Given the description of an element on the screen output the (x, y) to click on. 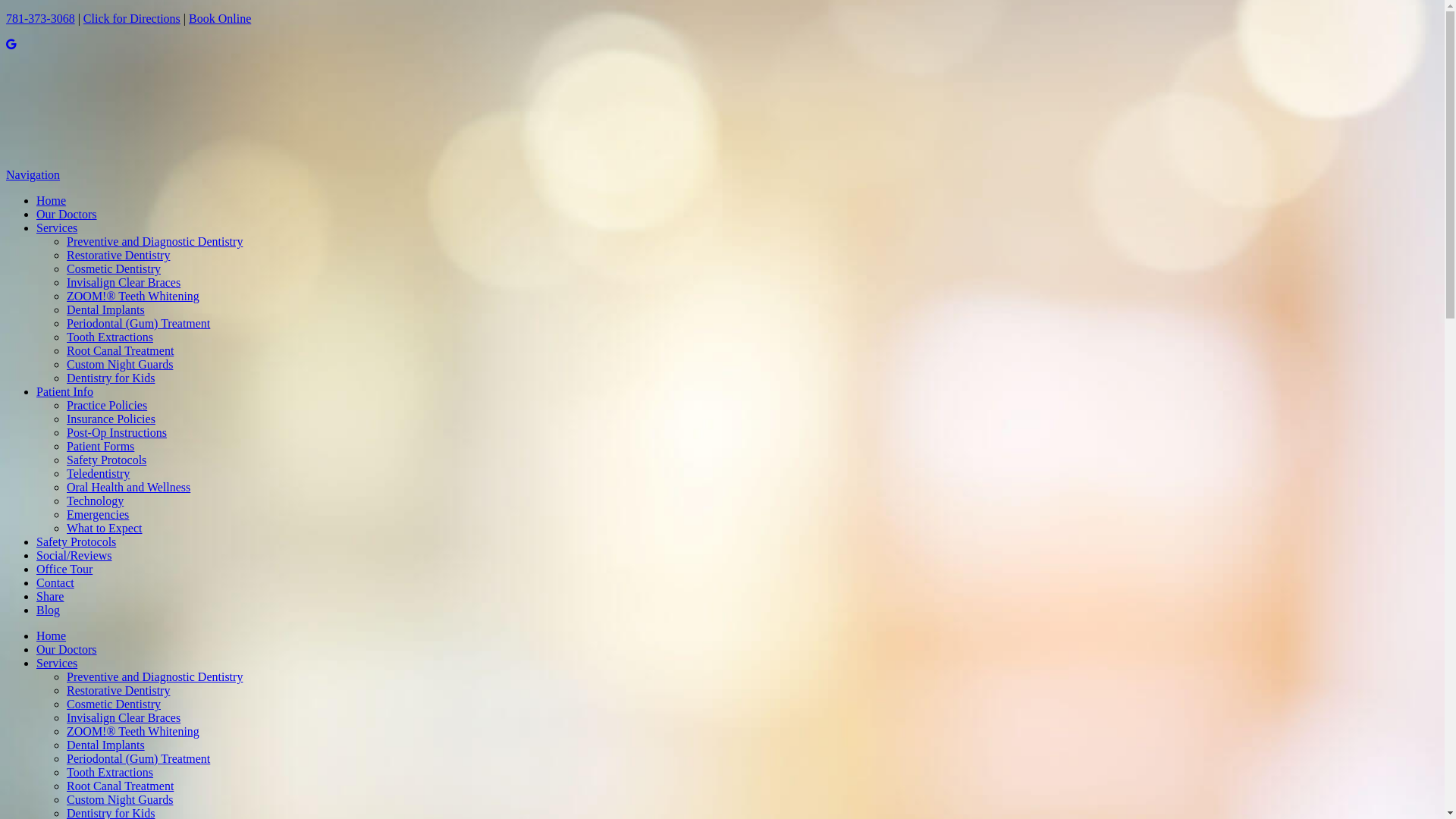
Technology Element type: text (94, 500)
Invisalign Clear Braces Element type: text (123, 717)
Preventive and Diagnostic Dentistry Element type: text (154, 676)
Dentistry for Kids Element type: text (110, 377)
Preventive and Diagnostic Dentistry Element type: text (154, 241)
Contact Element type: text (55, 582)
Our Doctors Element type: text (66, 649)
Restorative Dentistry Element type: text (117, 690)
Cosmetic Dentistry Element type: text (113, 268)
Patient Forms Element type: text (100, 445)
What to Expect Element type: text (104, 527)
Tooth Extractions Element type: text (109, 771)
Services Element type: text (737, 663)
Safety Protocols Element type: text (106, 459)
Services Element type: text (56, 227)
Post-Op Instructions Element type: text (116, 432)
Book Online Element type: text (219, 18)
Periodontal (Gum) Treatment Element type: text (138, 322)
Insurance Policies Element type: text (110, 418)
Custom Night Guards Element type: text (119, 799)
Dental Implants Element type: text (105, 309)
Oral Health and Wellness Element type: text (128, 486)
Blog Element type: text (47, 609)
Our Doctors Element type: text (66, 213)
Periodontal (Gum) Treatment Element type: text (138, 758)
781-373-3068 Element type: text (40, 18)
Home Element type: text (50, 635)
Practice Policies Element type: text (106, 404)
Dental Implants Element type: text (105, 744)
Cosmetic Dentistry Element type: text (113, 703)
Custom Night Guards Element type: text (119, 363)
Share Element type: text (49, 595)
Restorative Dentistry Element type: text (117, 254)
Navigation Element type: text (32, 174)
Patient Info Element type: text (64, 391)
Emergencies Element type: text (97, 514)
Home Element type: text (50, 200)
Root Canal Treatment Element type: text (119, 785)
Root Canal Treatment Element type: text (119, 350)
Office Tour Element type: text (64, 568)
Safety Protocols Element type: text (76, 541)
Invisalign Clear Braces Element type: text (123, 282)
Social/Reviews Element type: text (74, 555)
Click for Directions Element type: text (131, 18)
Tooth Extractions Element type: text (109, 336)
Teledentistry Element type: text (97, 473)
